Given the description of an element on the screen output the (x, y) to click on. 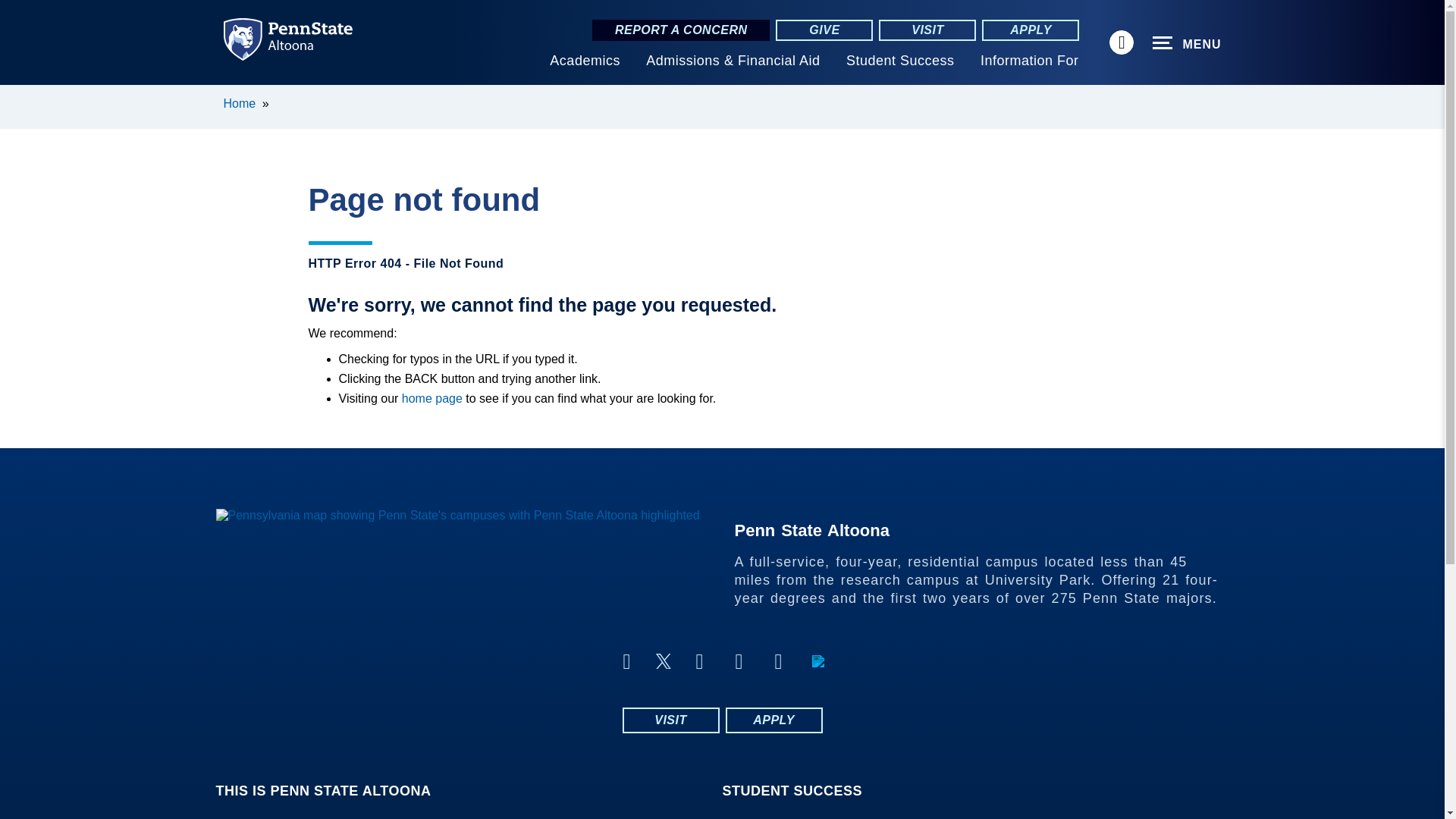
youtube (738, 661)
REPORT A CONCERN (681, 29)
Academics (585, 60)
facebook (626, 661)
linkedin (778, 661)
tiktok (817, 661)
instagram (699, 661)
APPLY (1029, 29)
MENU (1187, 43)
SKIP TO MAIN CONTENT (19, 95)
